Given the description of an element on the screen output the (x, y) to click on. 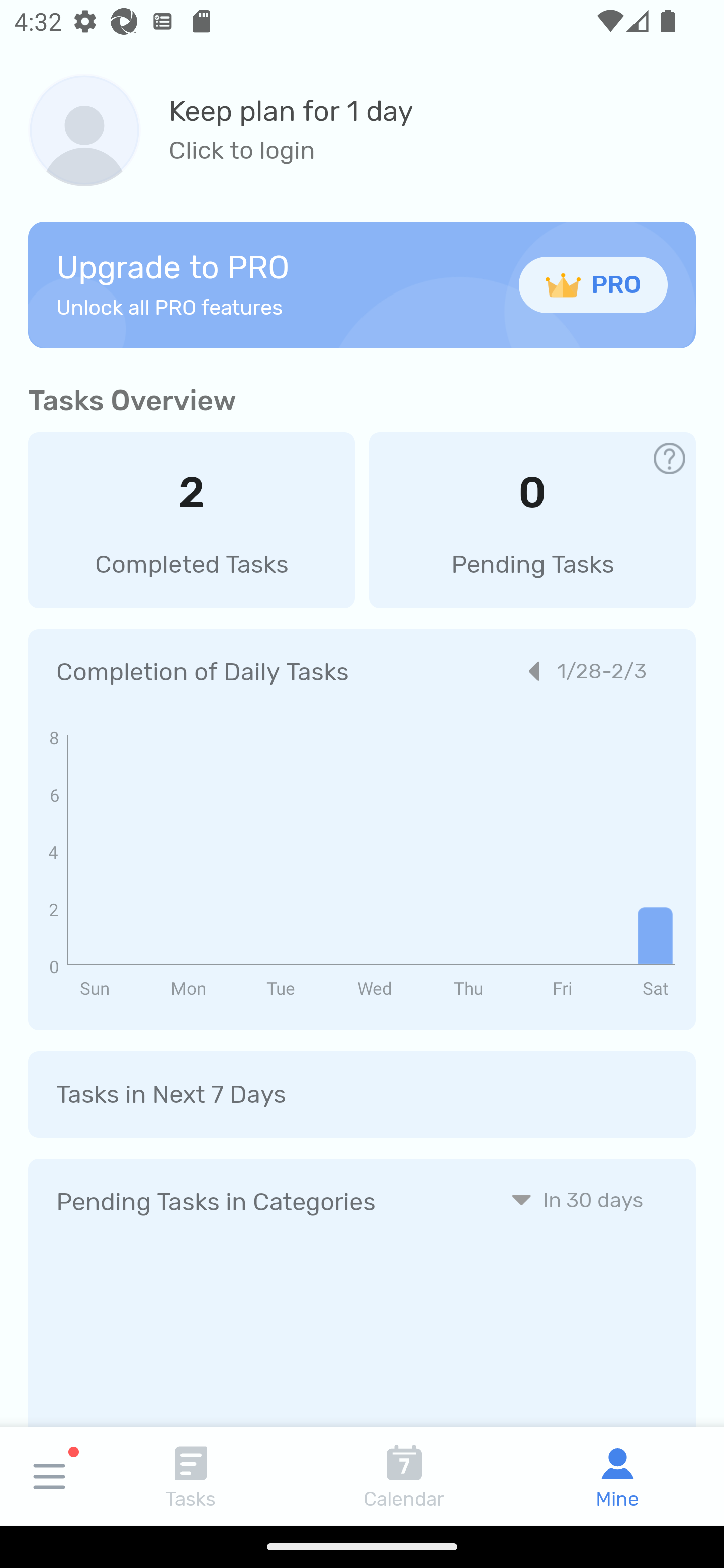
Click to login (291, 151)
Upgrade to PRO Unlock all PRO features PRO (361, 284)
In 30 days (577, 1199)
Tasks (190, 1475)
Calendar (404, 1475)
Mine (617, 1475)
